Given the description of an element on the screen output the (x, y) to click on. 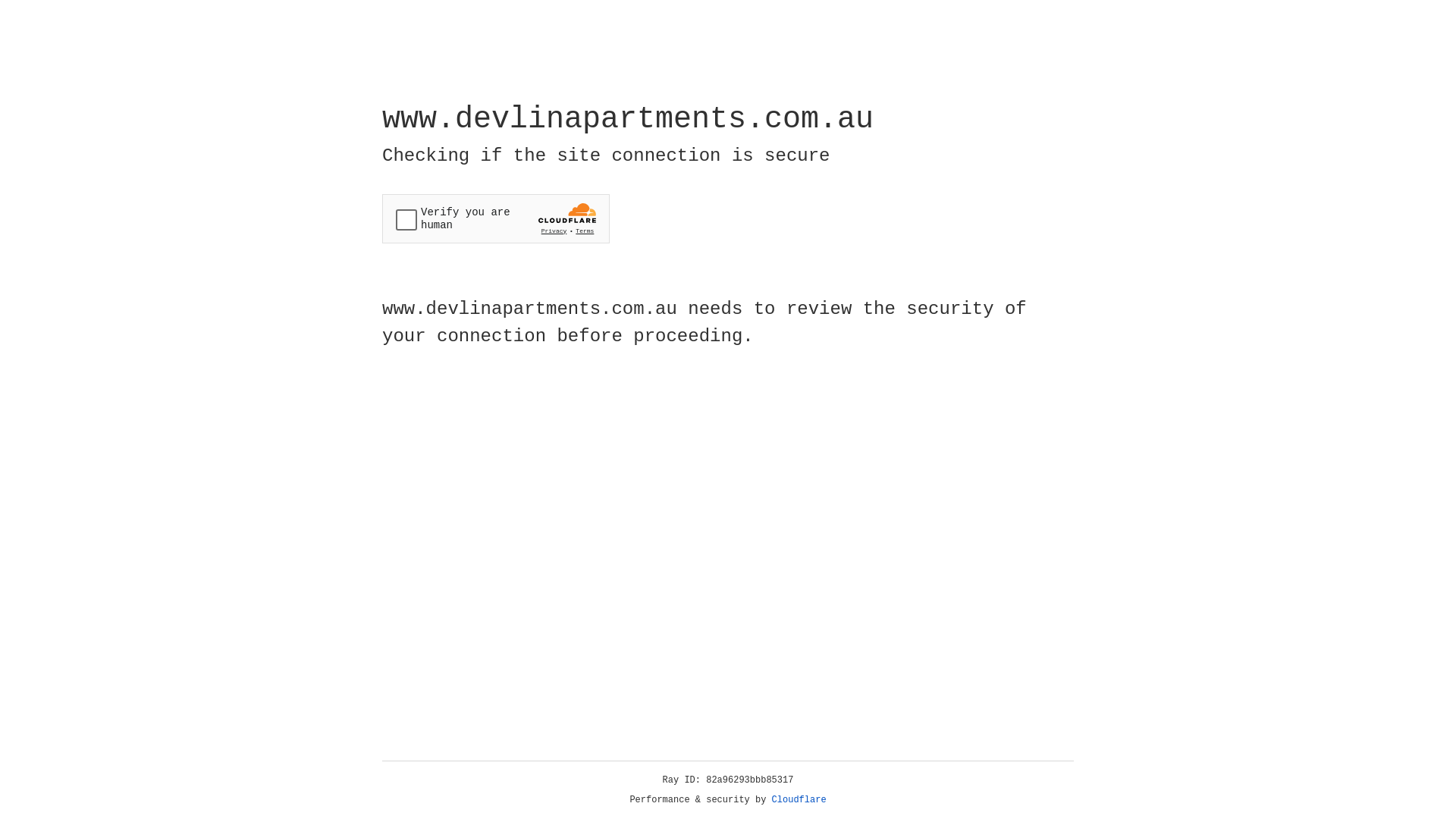
Widget containing a Cloudflare security challenge Element type: hover (495, 218)
Cloudflare Element type: text (798, 799)
